Given the description of an element on the screen output the (x, y) to click on. 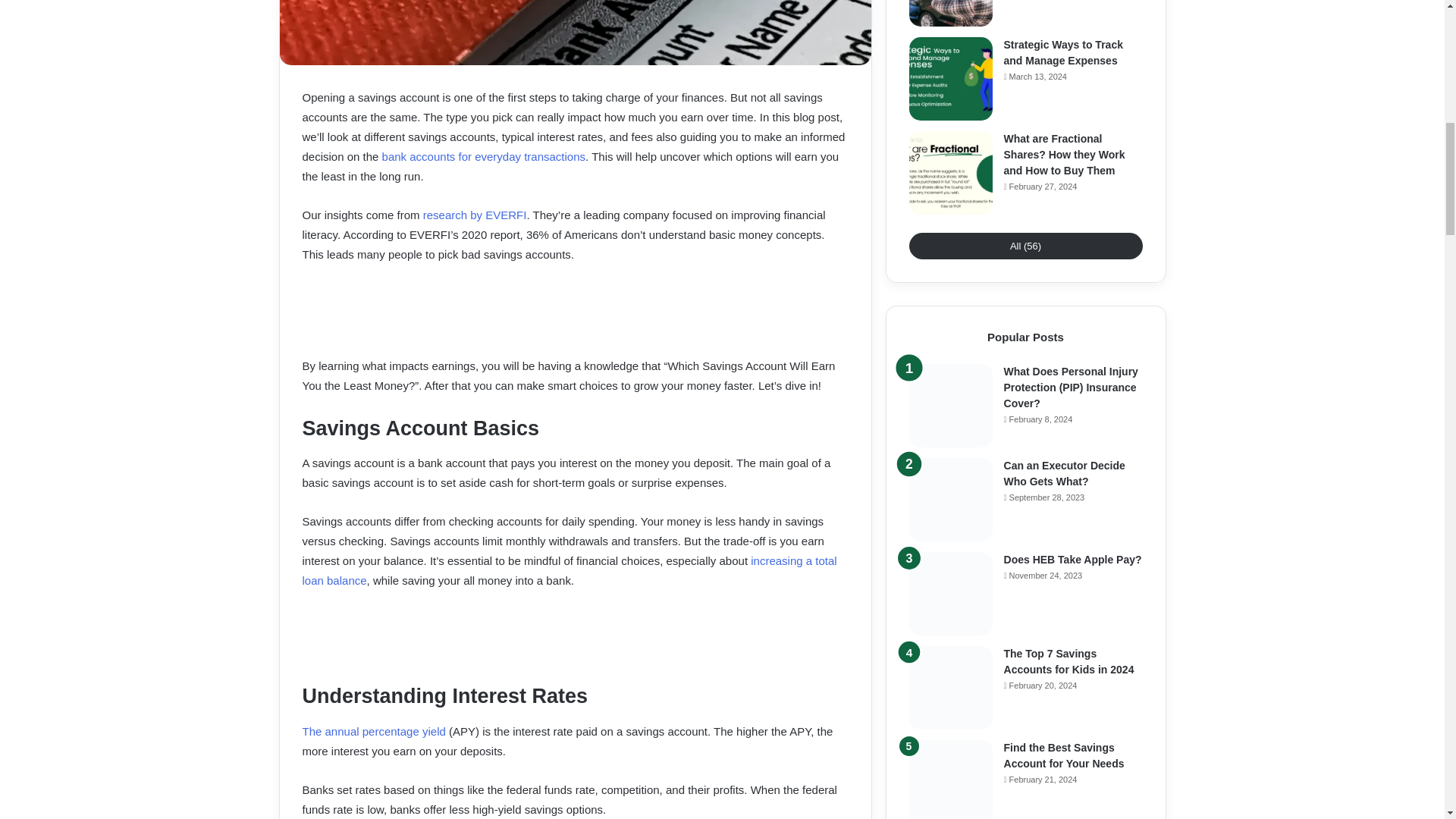
research by EVERFI (475, 214)
bank accounts for everyday transactions (483, 155)
The annual percentage yield (373, 730)
increasing a total loan balance (568, 570)
